Given the description of an element on the screen output the (x, y) to click on. 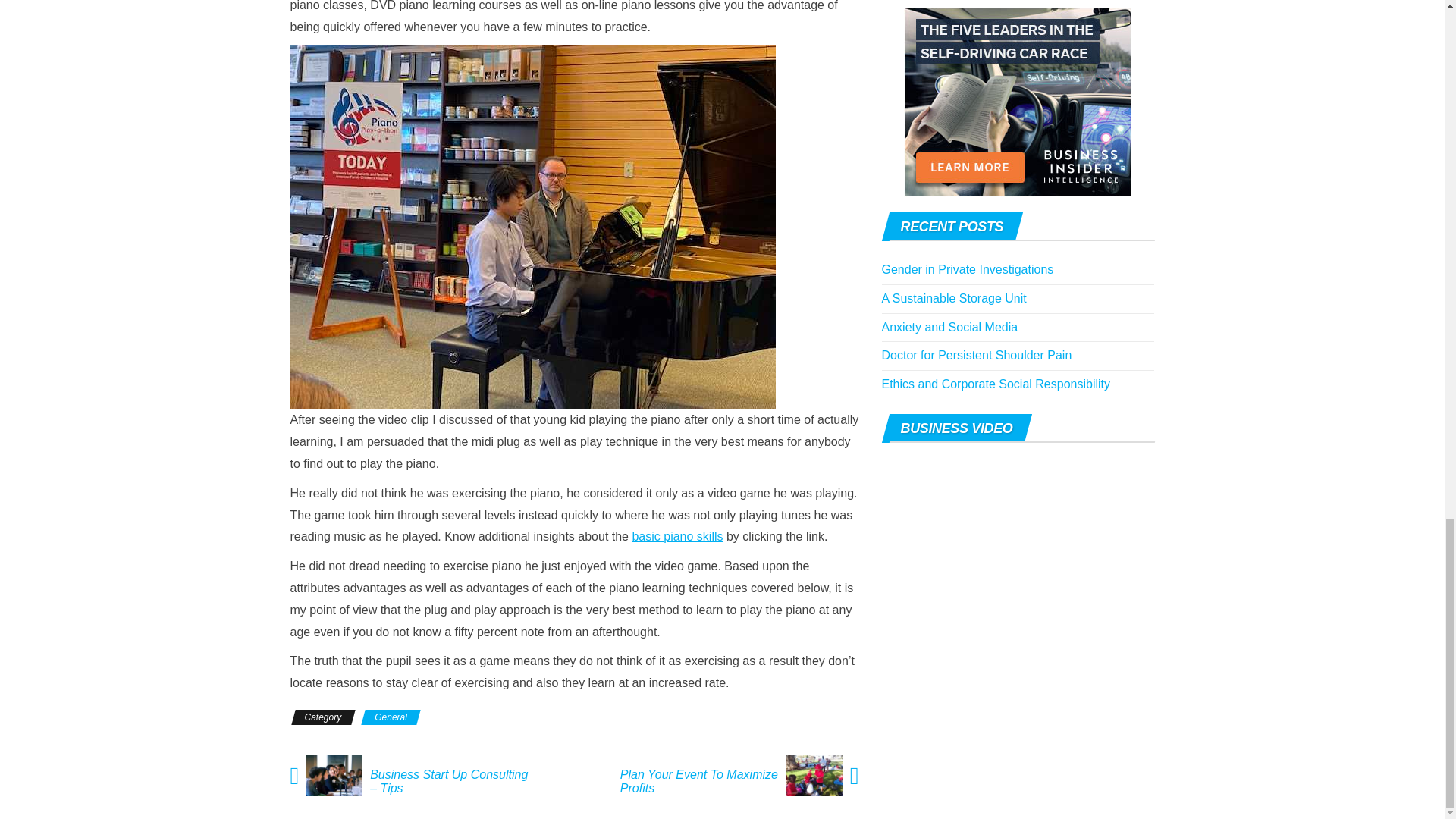
basic piano skills (676, 535)
Plan Your Event To Maximize Profits (695, 781)
General (390, 717)
